Given the description of an element on the screen output the (x, y) to click on. 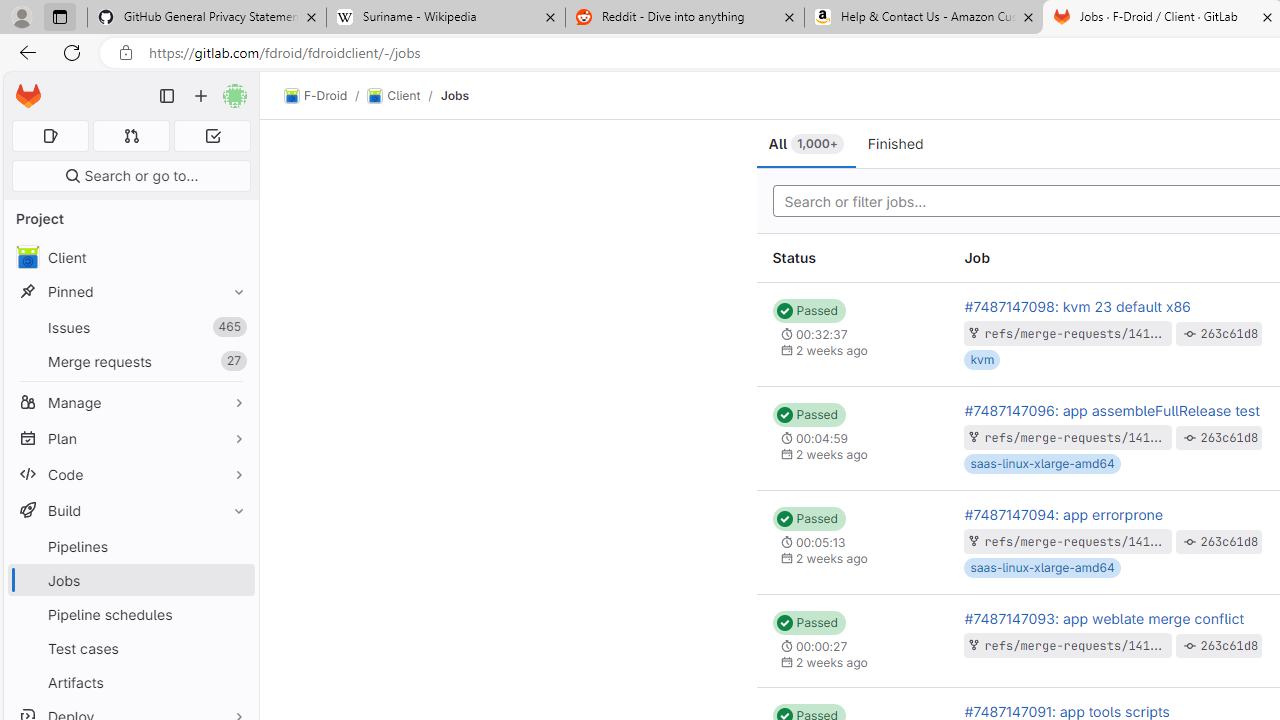
Pinned (130, 291)
refs/merge-requests/1411/head (1089, 644)
Status (852, 258)
avatar (27, 257)
F-Droid/ (326, 96)
avatar Client (130, 257)
Merge requests 0 (131, 136)
Pipelines (130, 546)
Create new... (201, 96)
Manage (130, 402)
263c61d8 (1229, 645)
Pin Pipeline schedules (234, 614)
Reddit - Dive into anything (684, 17)
Pin Jobs (234, 580)
